Given the description of an element on the screen output the (x, y) to click on. 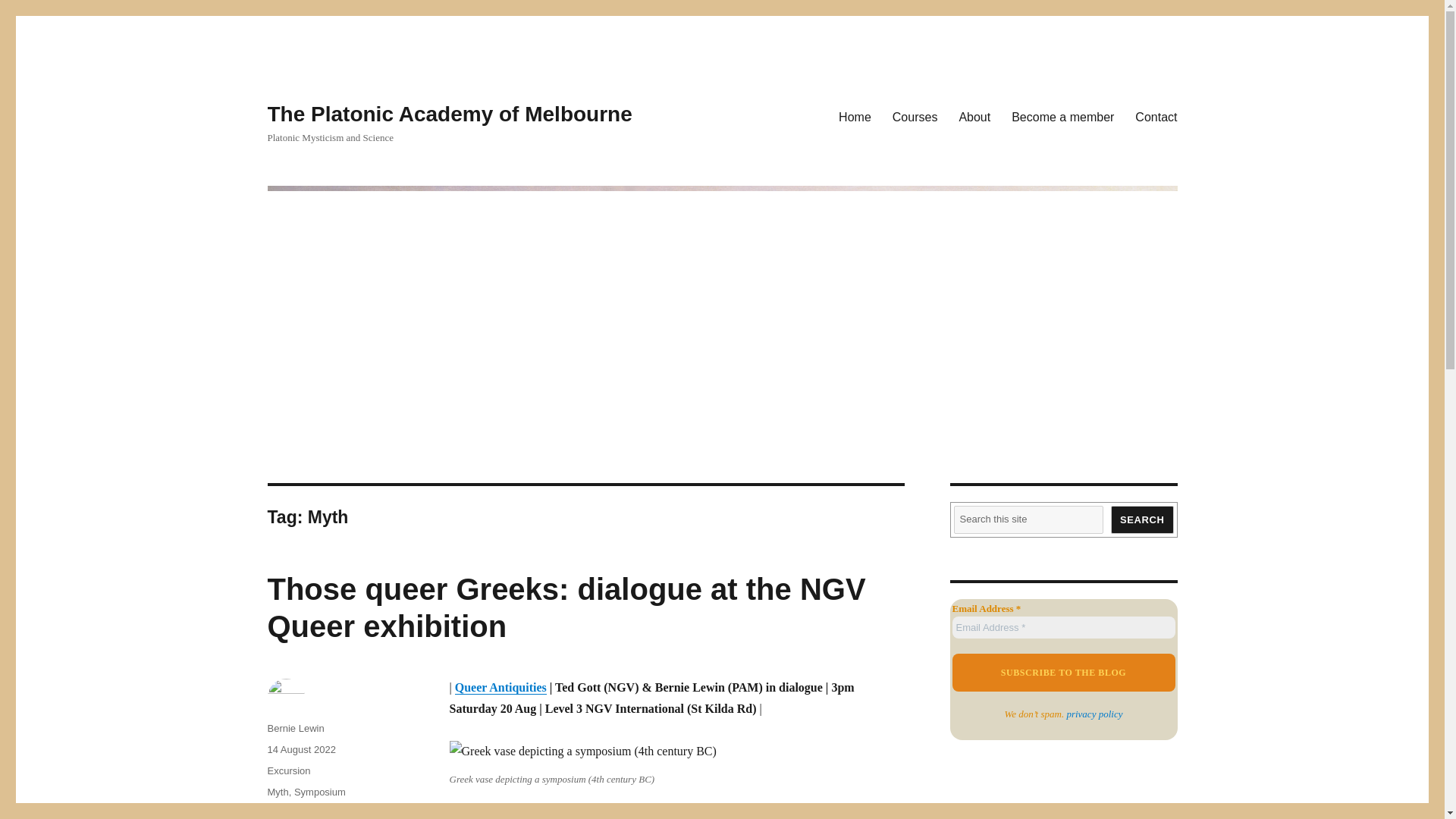
Home (855, 116)
Subscribe to the blog (1063, 672)
Symposium (320, 791)
Bernie Lewin (294, 727)
Myth (277, 791)
The Platonic Academy of Melbourne (448, 114)
14 August 2022 (300, 749)
Become a member (1062, 116)
Courses (915, 116)
Those queer Greeks: dialogue at the NGV Queer exhibition (565, 607)
